Given the description of an element on the screen output the (x, y) to click on. 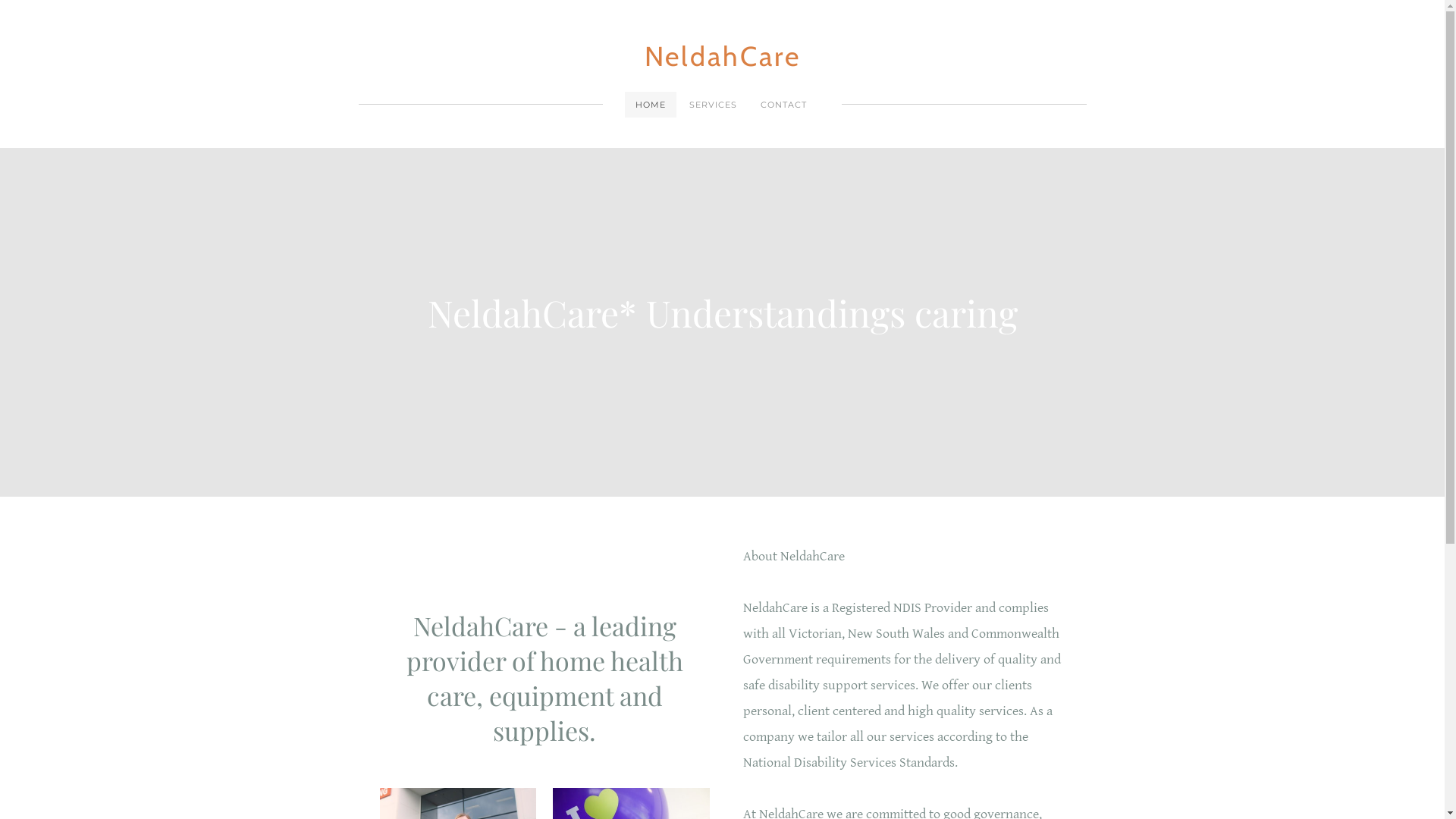
HOME Element type: text (650, 104)
NeldahCare Element type: text (722, 56)
SERVICES Element type: text (712, 104)
CONTACT Element type: text (783, 104)
